Given the description of an element on the screen output the (x, y) to click on. 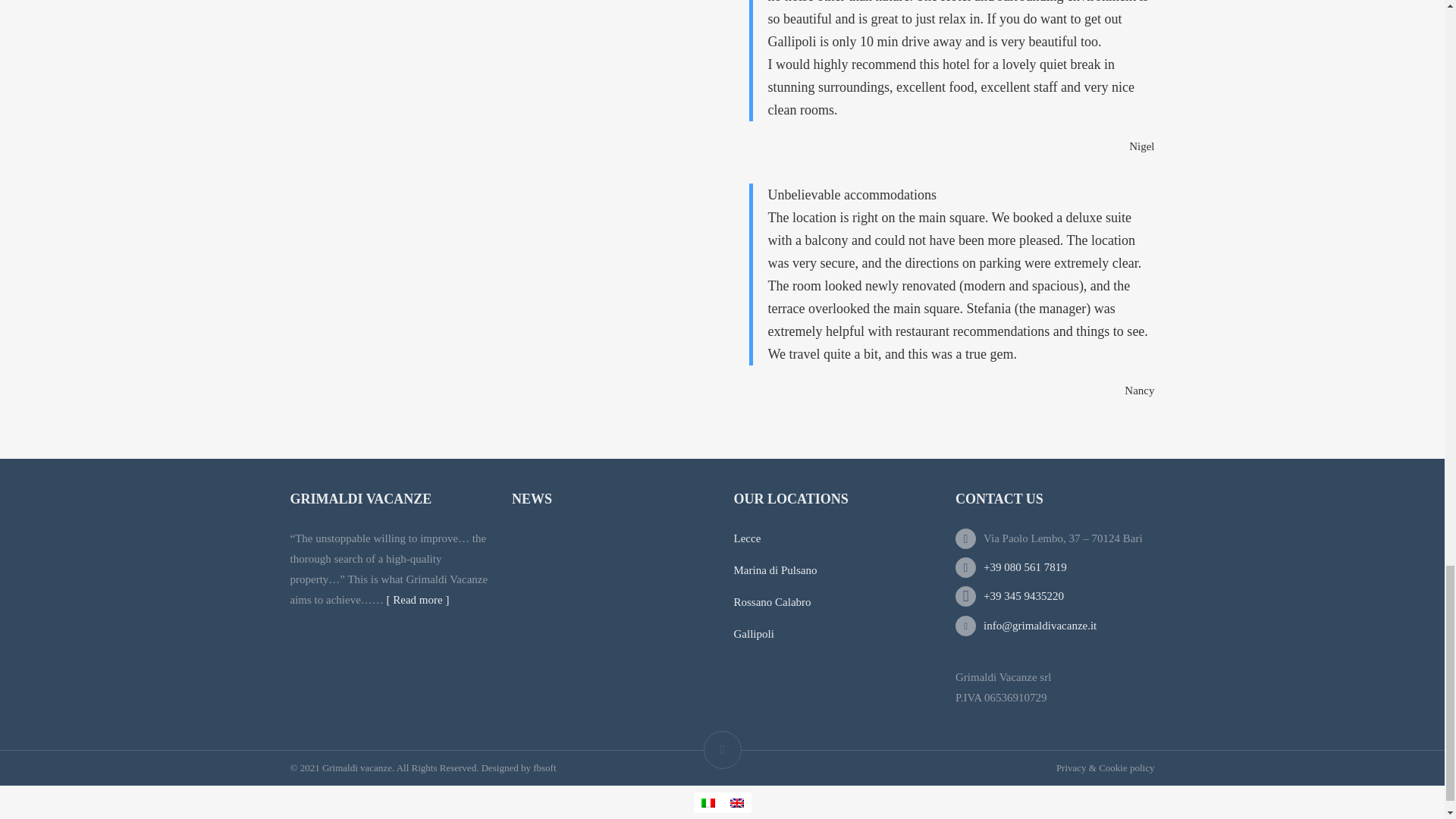
Rossano Calabro (771, 602)
Marina di Pulsano (774, 570)
Lecce (747, 538)
Gallipoli (753, 634)
